Given the description of an element on the screen output the (x, y) to click on. 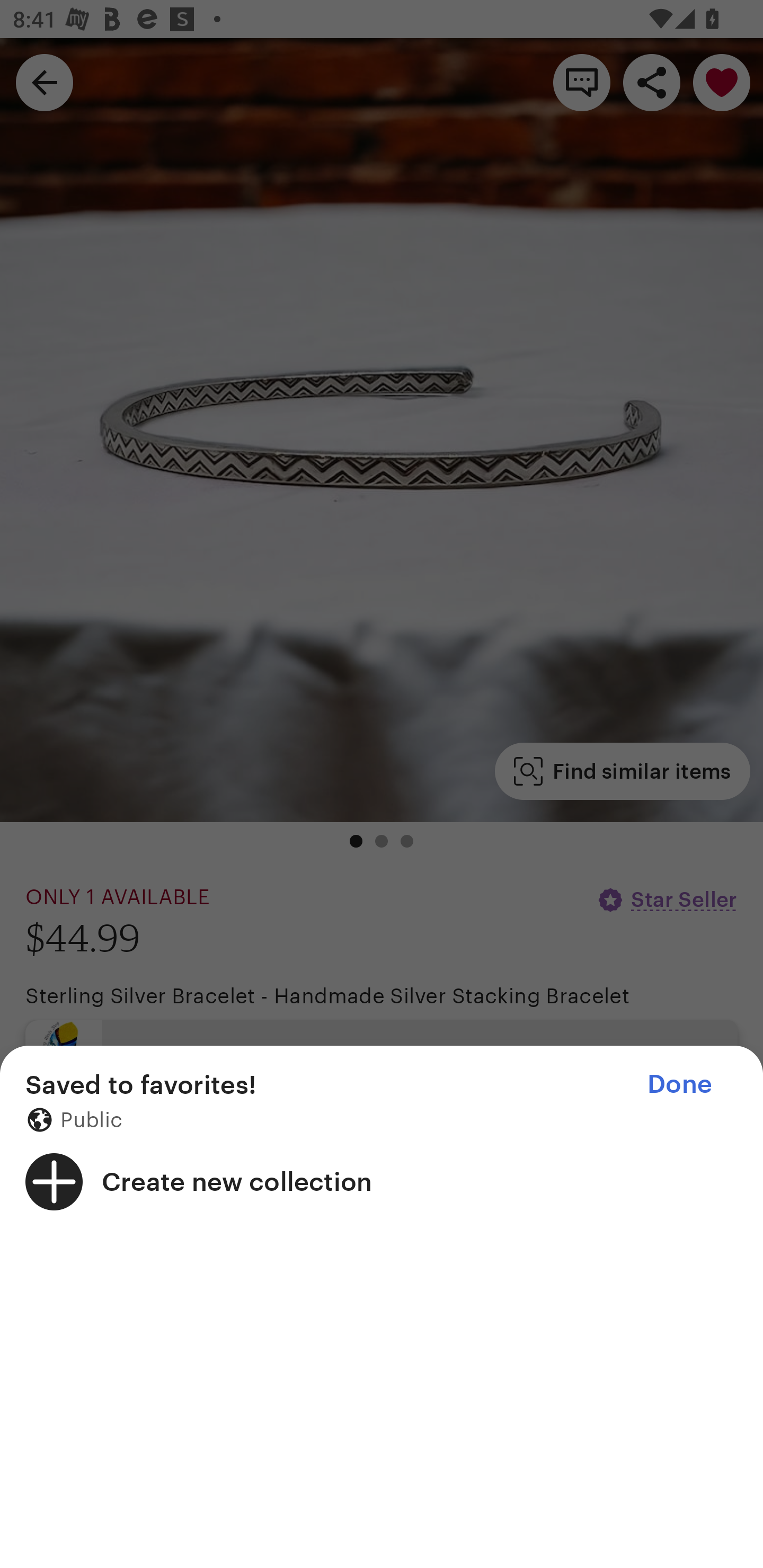
Done (679, 1083)
Create new collection (381, 1181)
